Given the description of an element on the screen output the (x, y) to click on. 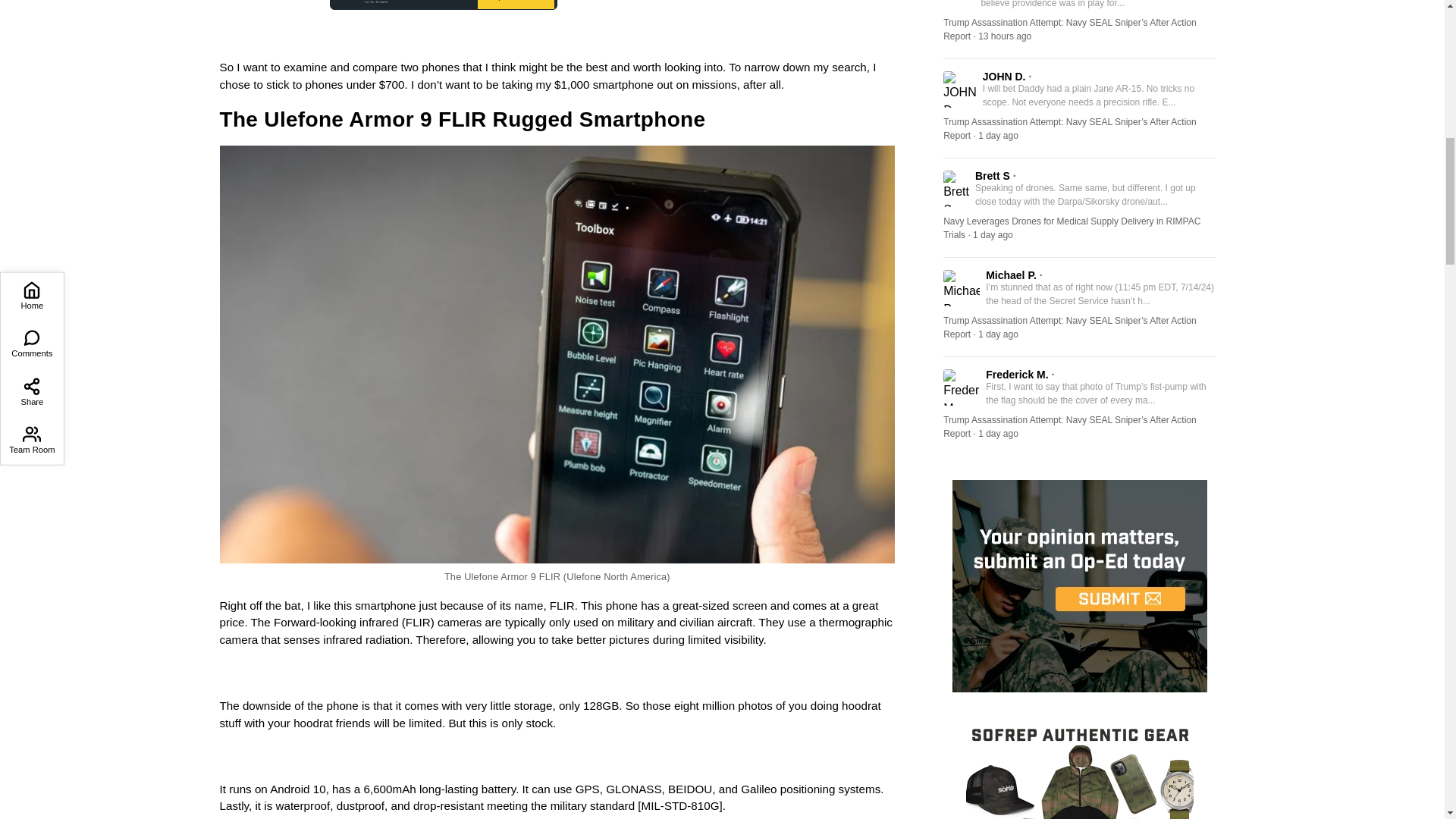
Vuukle Quiz Widget (443, 4)
3rd party ad content (670, 5)
